Given the description of an element on the screen output the (x, y) to click on. 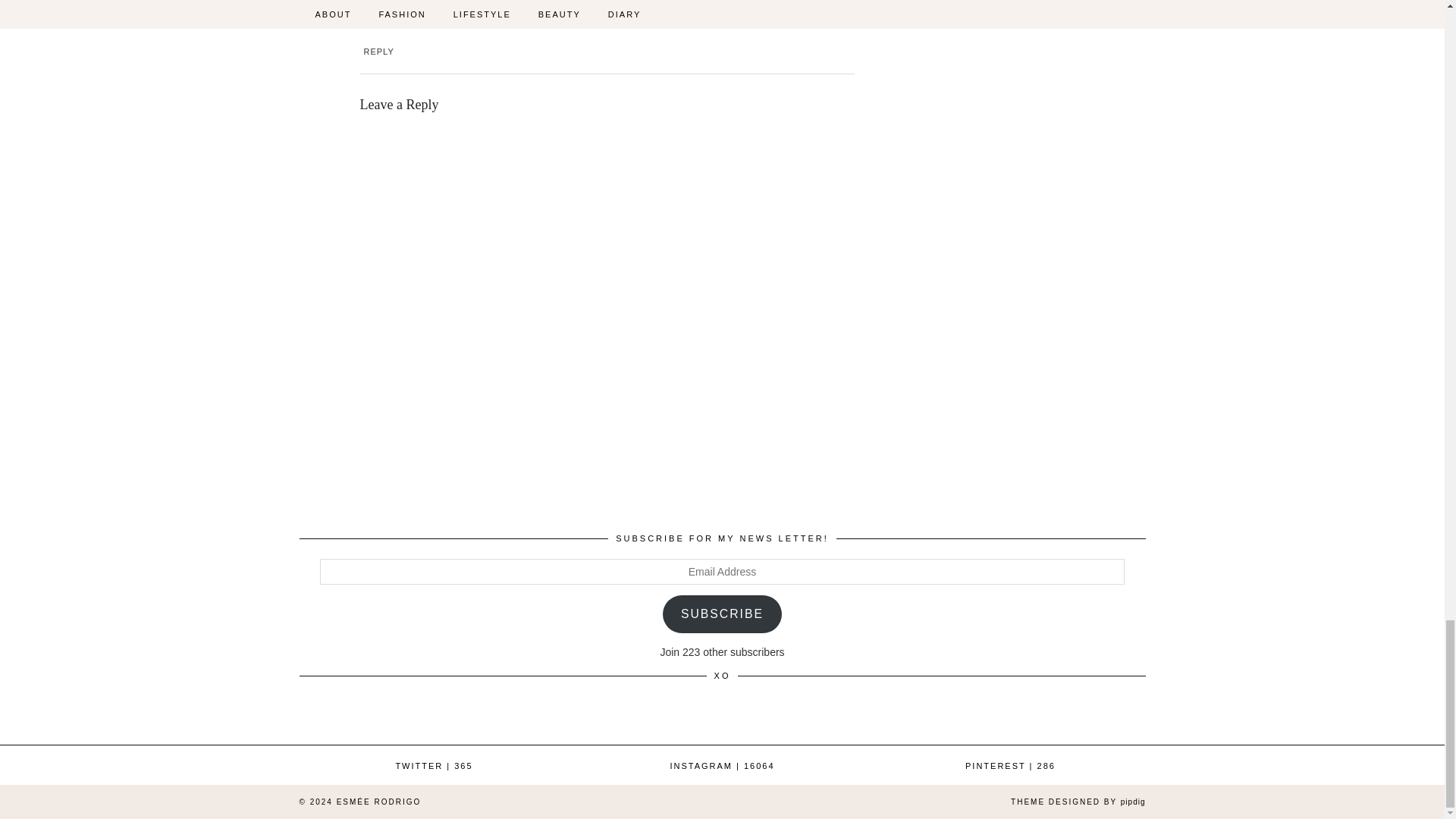
REPLY (379, 51)
